Given the description of an element on the screen output the (x, y) to click on. 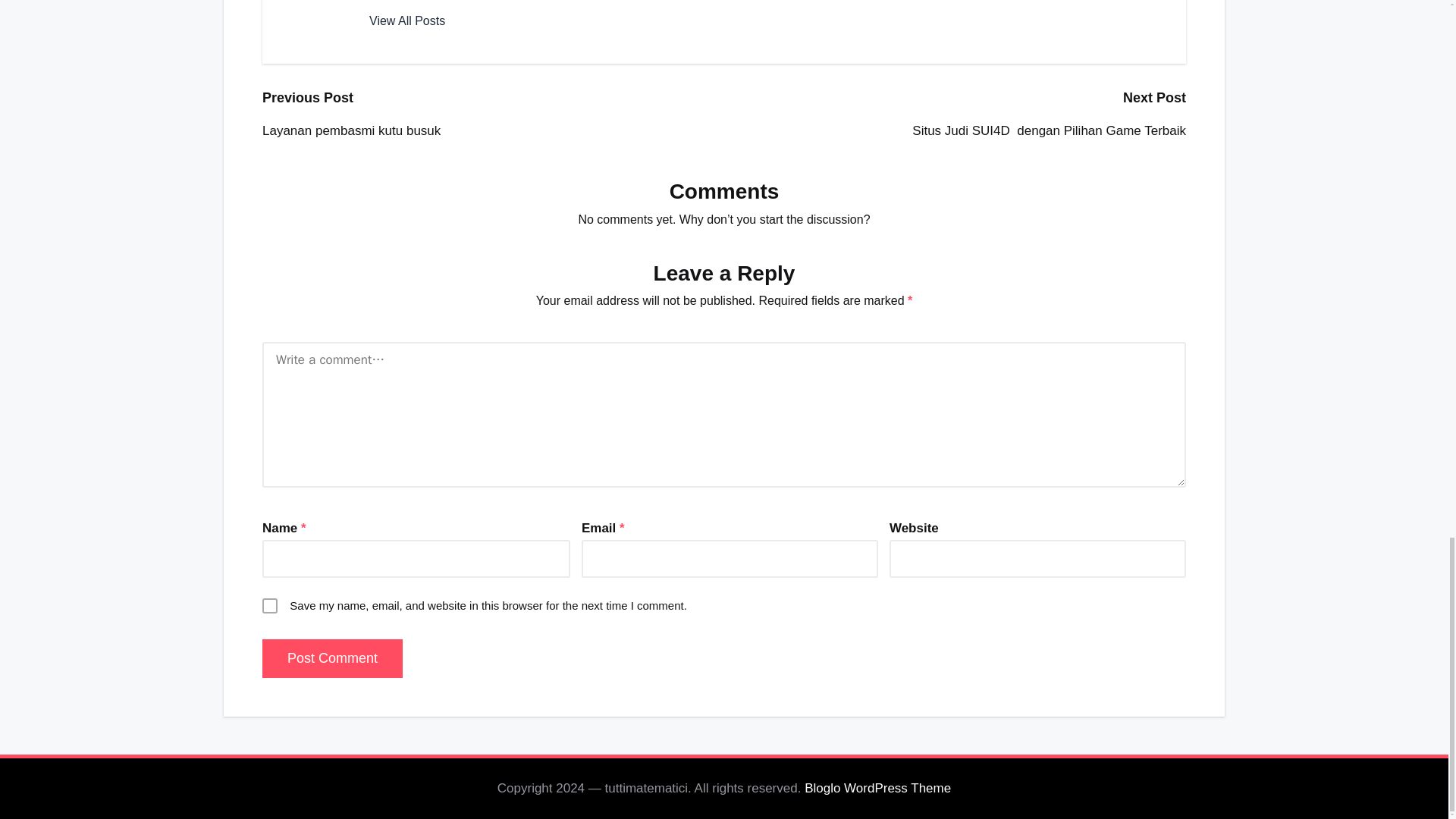
Situs Judi SUI4D  dengan Pilihan Game Terbaik (954, 130)
Layanan pembasmi kutu busuk (492, 130)
yes (270, 605)
Bloglo WordPress Theme (877, 788)
View All Posts (407, 21)
Post Comment (332, 658)
Post Comment (332, 658)
